Given the description of an element on the screen output the (x, y) to click on. 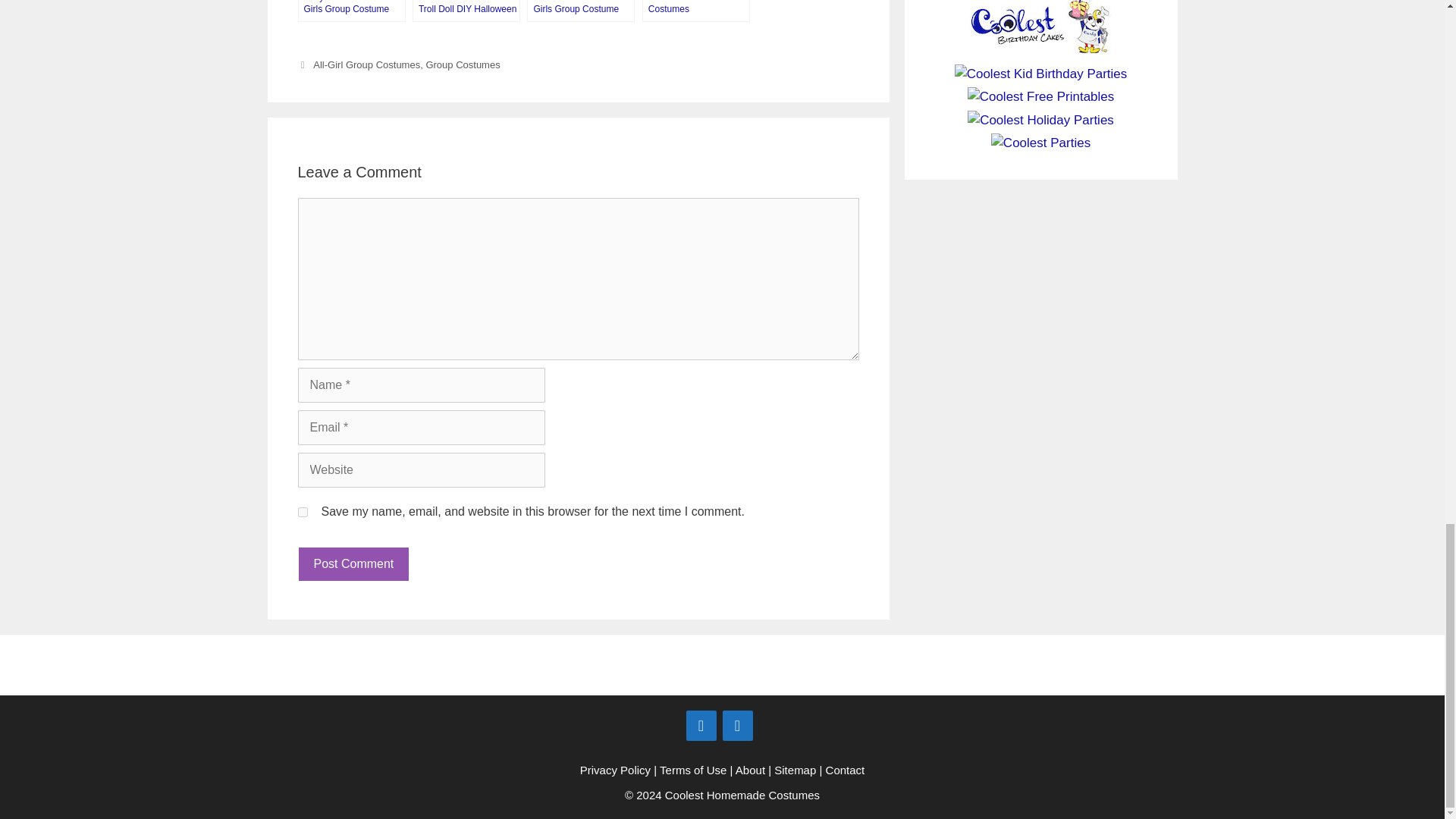
Post Comment (353, 564)
Sexy Treasure Trolls Girls Group Costume (350, 10)
yes (302, 511)
Instagram (737, 725)
Facebook (700, 725)
Coolest Homemade Troll Doll DIY Halloween Costume Ideas (465, 10)
Coolest Troll Dolls All Girls Group Costume (580, 10)
Coolest Troll Dolls Costumes (695, 10)
